Given the description of an element on the screen output the (x, y) to click on. 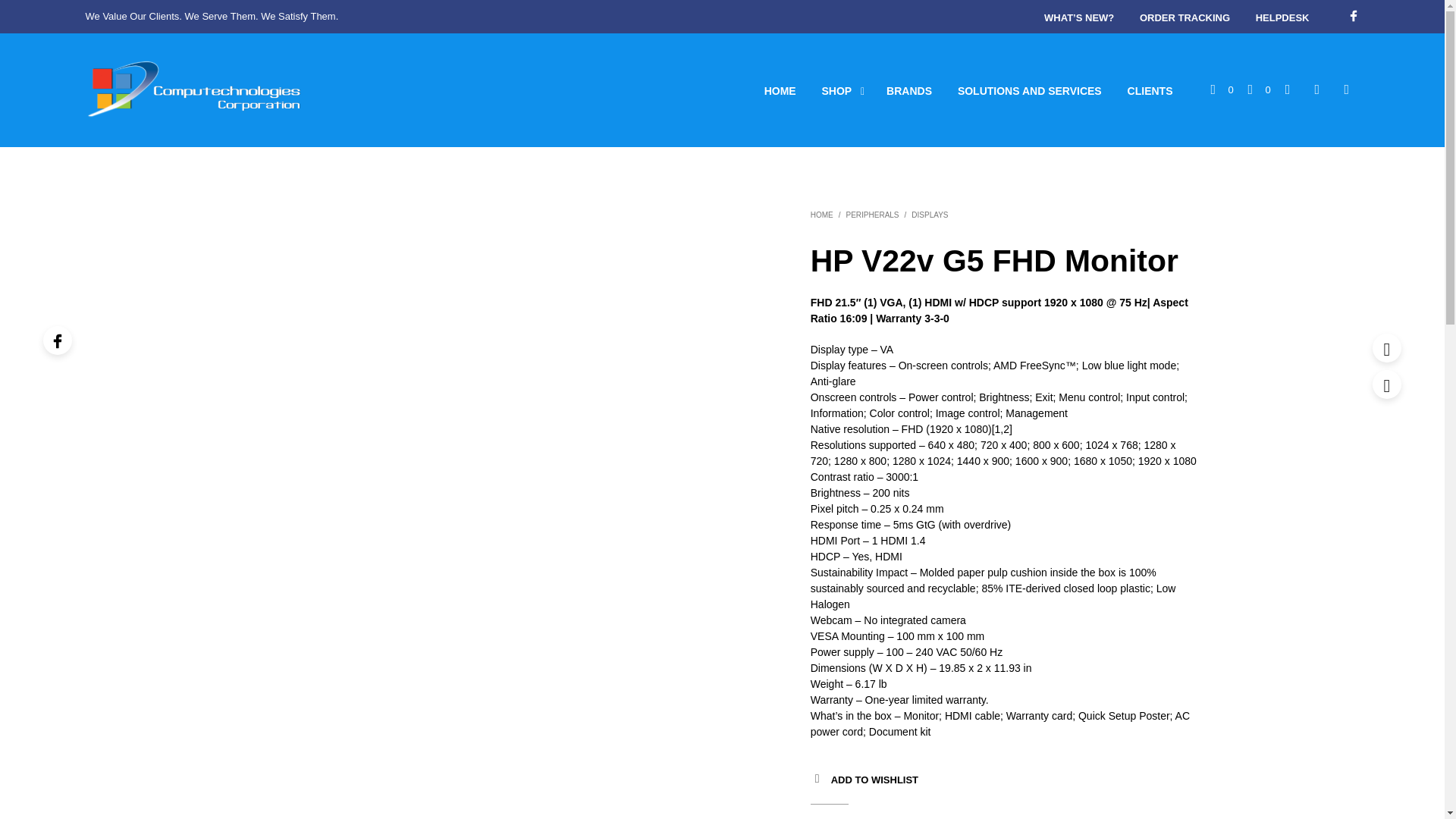
Facebook (1352, 15)
HOME (780, 91)
CLIENTS (1150, 91)
ORDER TRACKING (1184, 17)
SOLUTIONS AND SERVICES (1029, 91)
SHOP (836, 91)
BRANDS (909, 91)
HELPDESK (1282, 17)
